Given the description of an element on the screen output the (x, y) to click on. 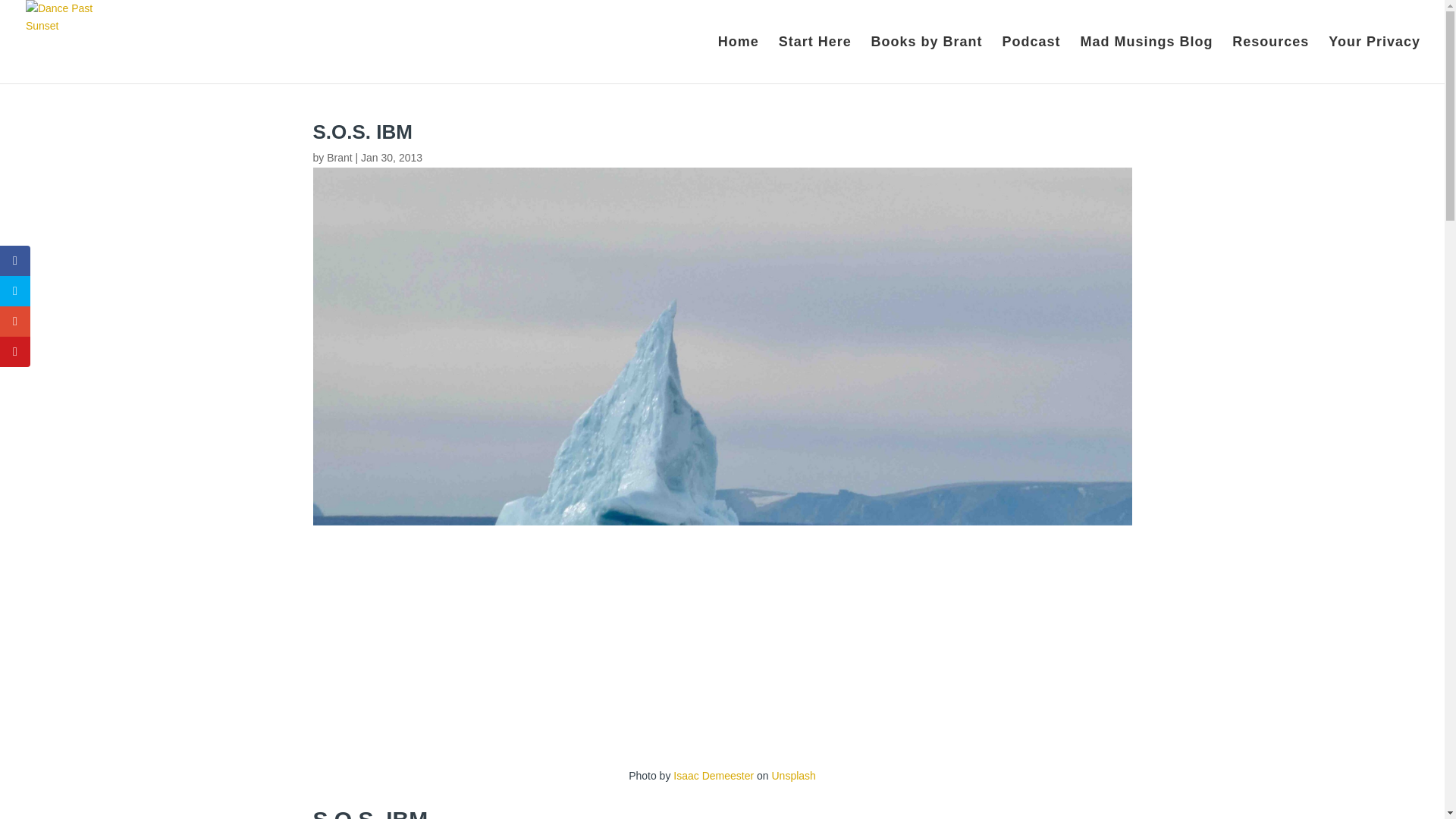
Isaac Demeester (713, 775)
Podcast (1032, 59)
Books by Brant (926, 59)
Brant (339, 157)
Your Privacy (1374, 59)
Posts by Brant (339, 157)
Resources (1269, 59)
Start Here (814, 59)
Unsplash (793, 775)
